Given the description of an element on the screen output the (x, y) to click on. 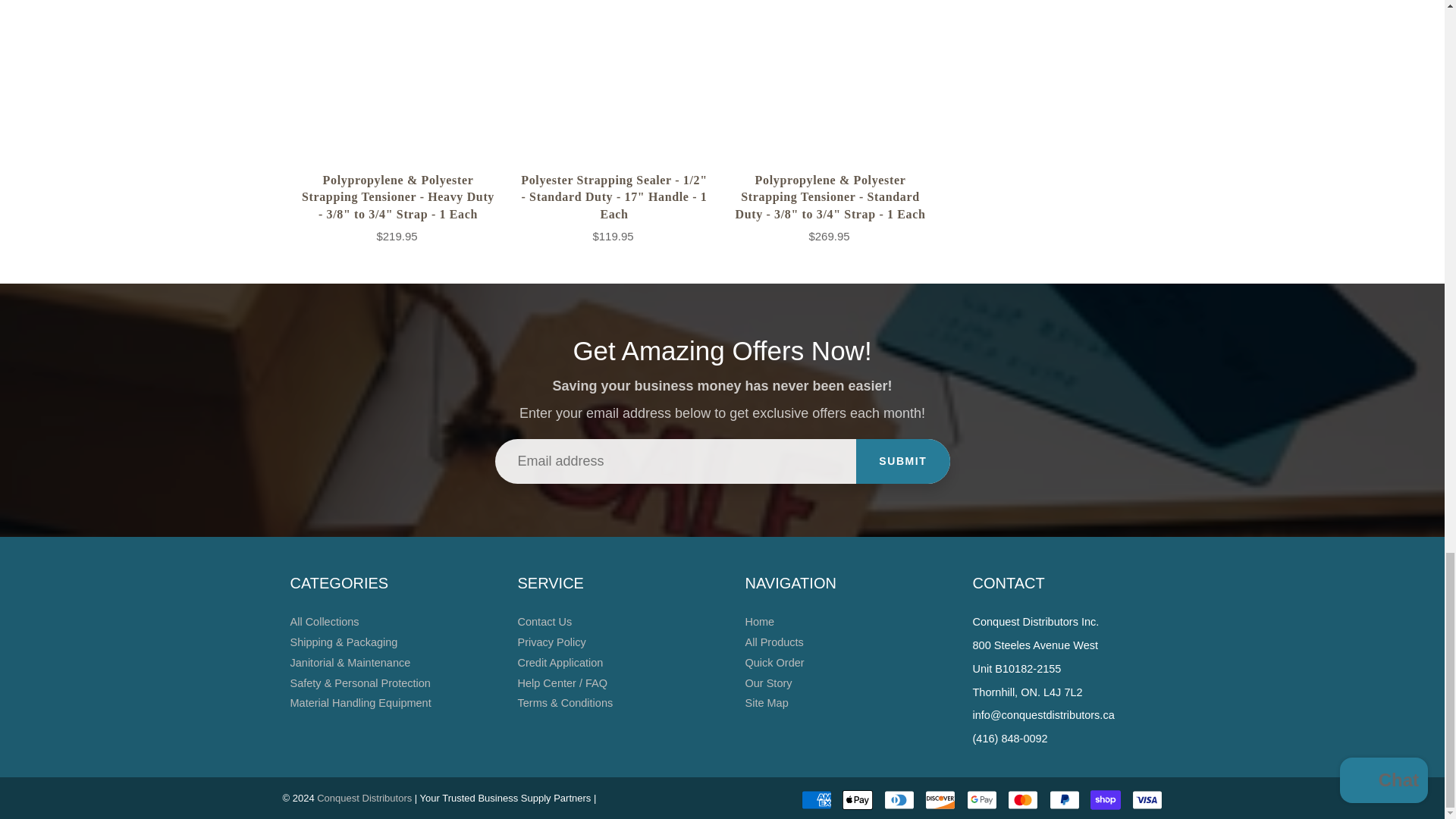
Discover (939, 799)
Apple Pay (857, 799)
Mastercard (1022, 799)
Visa (1146, 799)
Diners Club (898, 799)
Google Pay (981, 799)
Shop Pay (1105, 799)
PayPal (1064, 799)
American Express (816, 799)
